Given the description of an element on the screen output the (x, y) to click on. 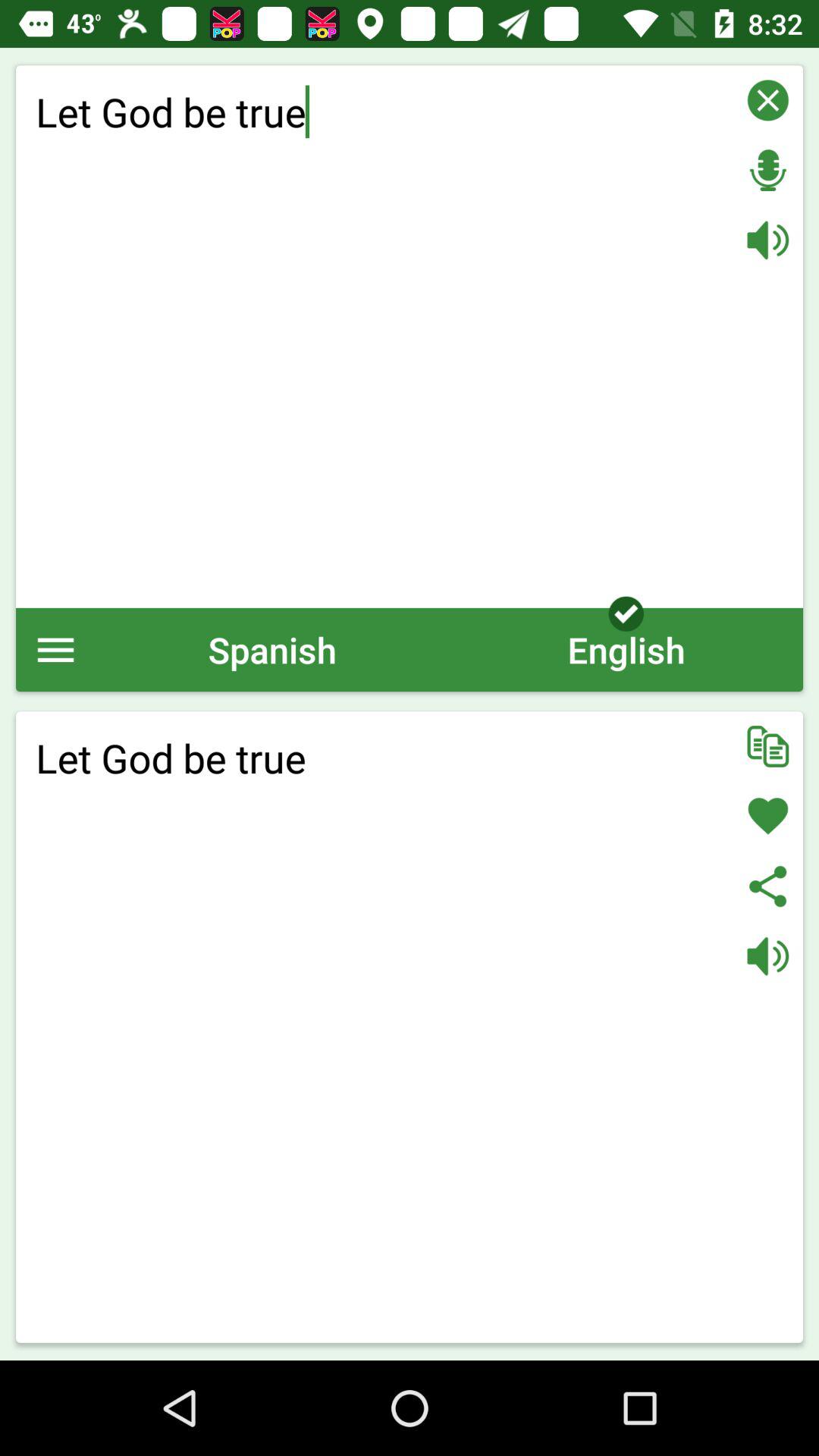
read aloud (768, 240)
